Given the description of an element on the screen output the (x, y) to click on. 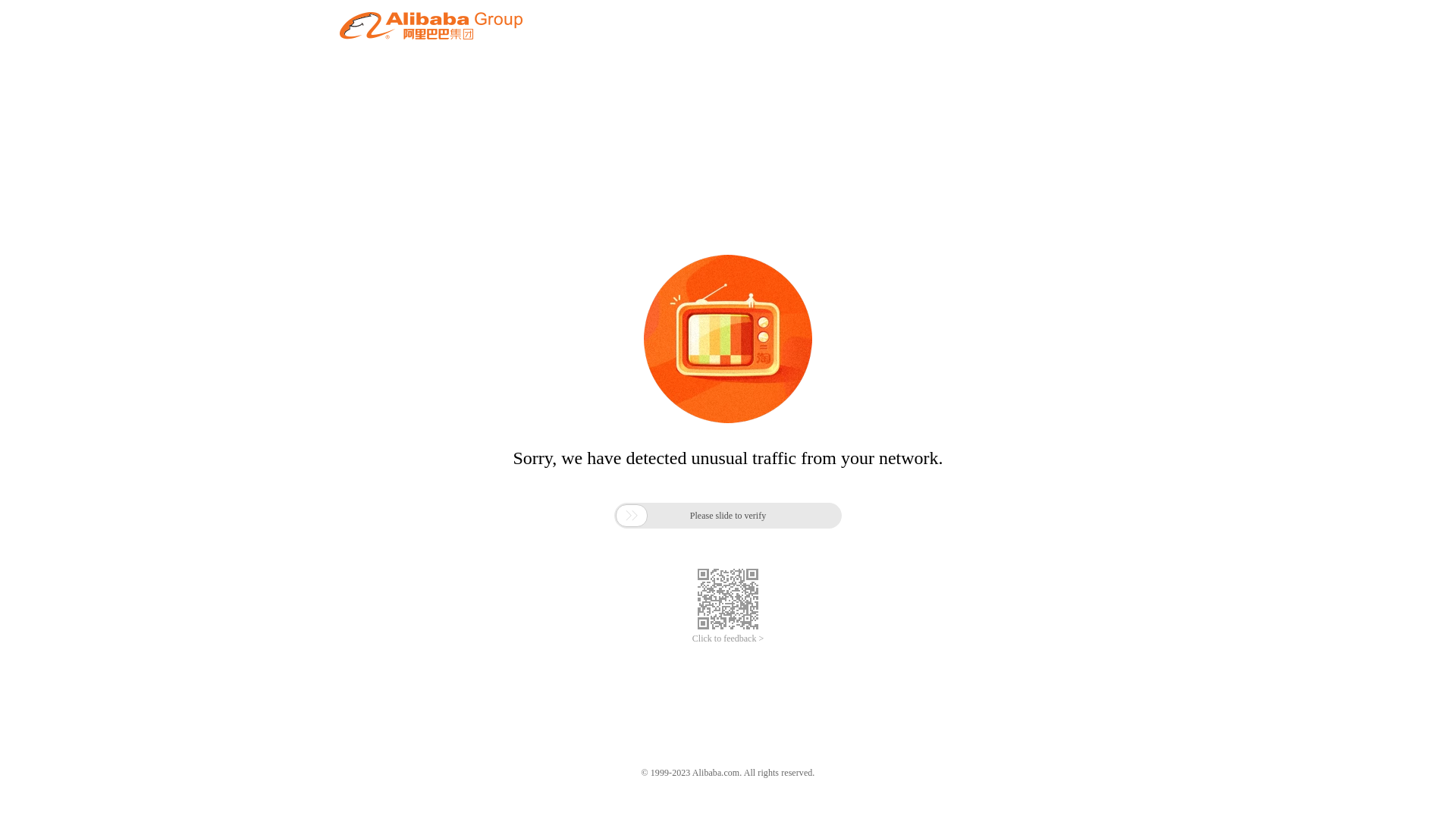
Click to feedback > Element type: text (727, 638)
